Given the description of an element on the screen output the (x, y) to click on. 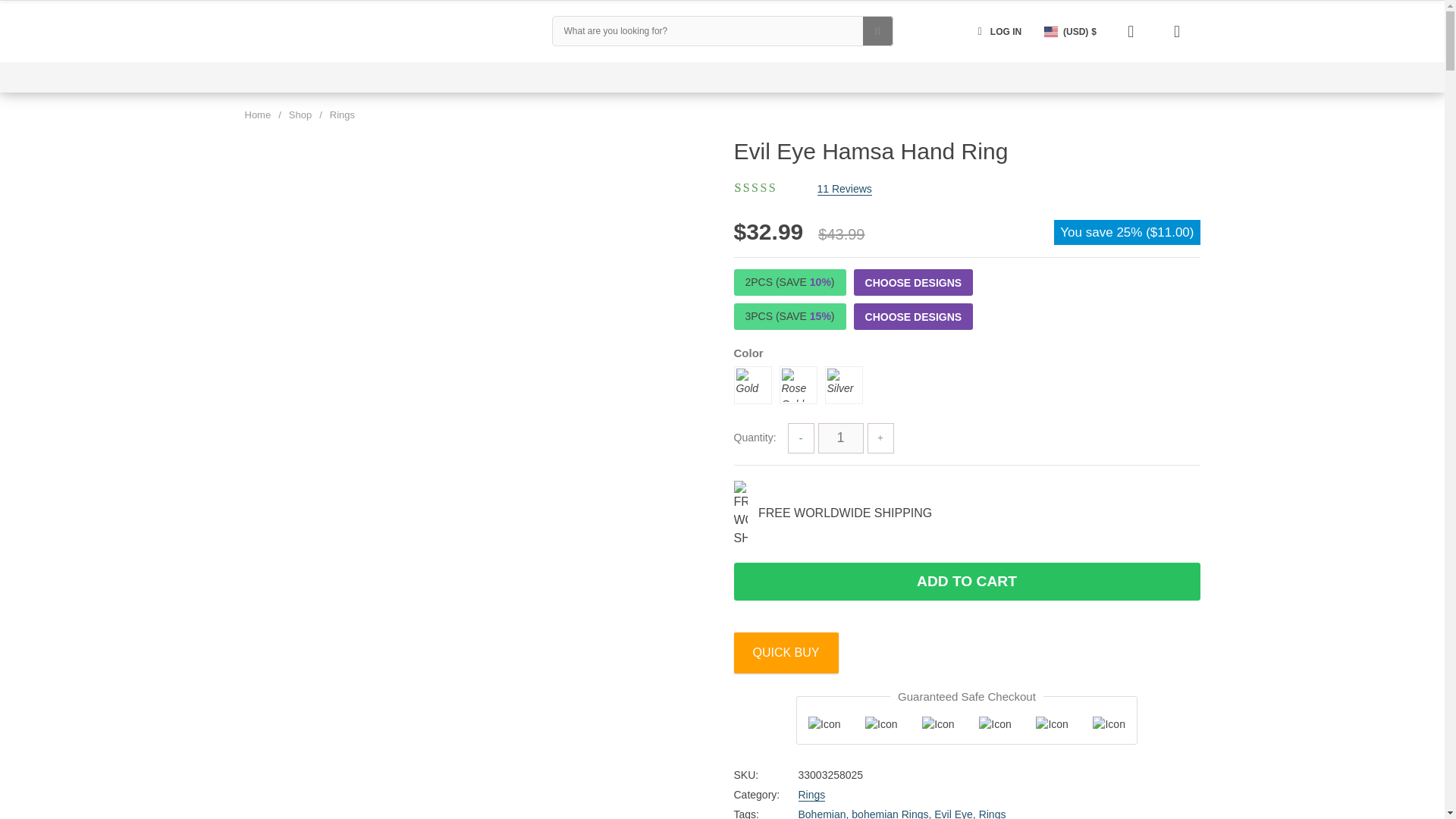
Rose Gold Color (796, 385)
Silver (844, 385)
11 Reviews (844, 188)
ADD TO CART (966, 581)
Gold (752, 385)
1 (840, 438)
Rose Gold Color (797, 385)
QUICK BUY (785, 652)
Log in (997, 30)
Wishlist (1130, 30)
LOG IN (997, 30)
- (800, 438)
Rings (342, 114)
Shop (299, 114)
Gold (751, 385)
